Given the description of an element on the screen output the (x, y) to click on. 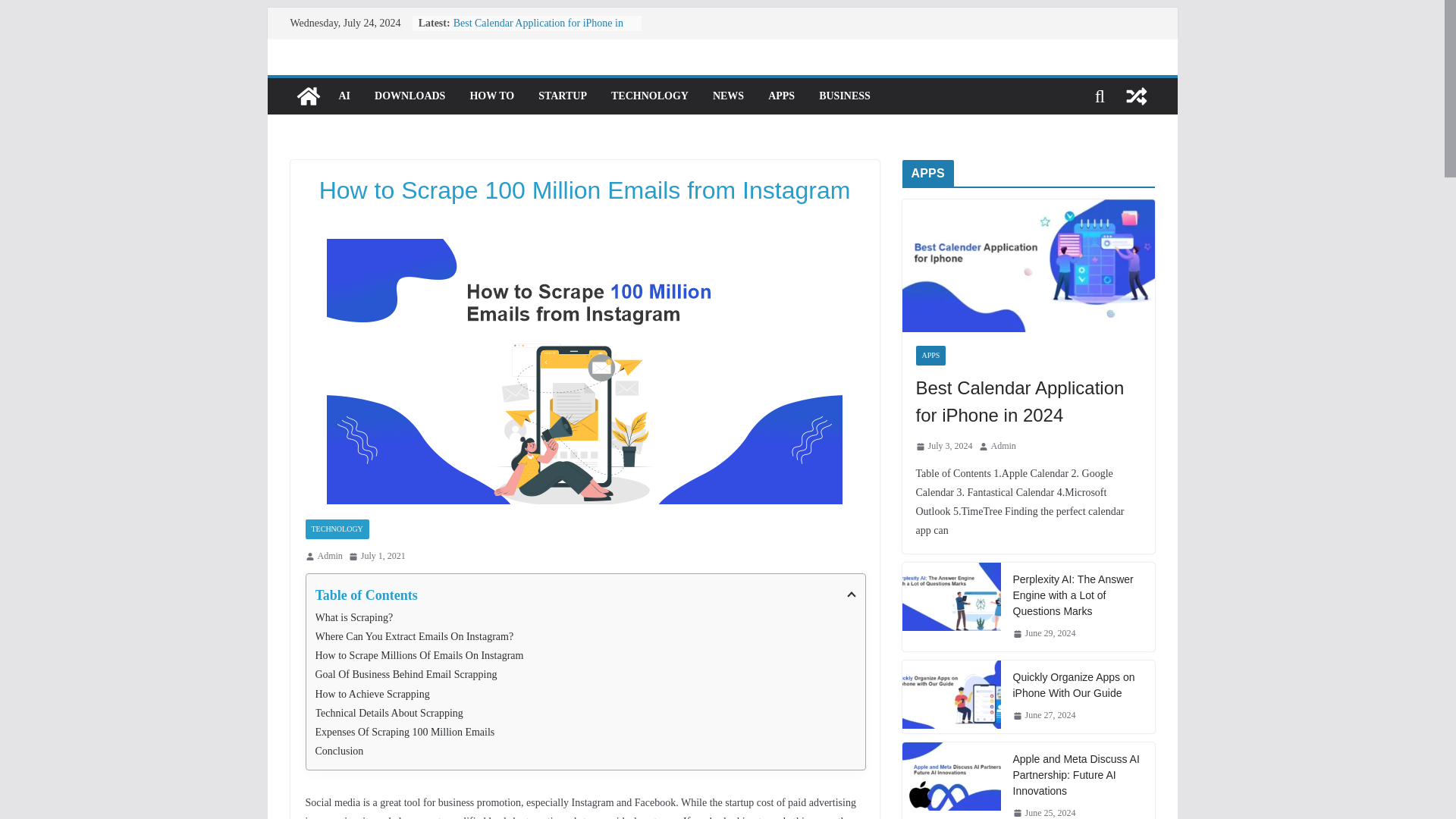
Expenses Of Scraping 100 Million Emails (585, 732)
How to Achieve Scrapping (585, 693)
APPS (781, 96)
What is Scraping? (585, 617)
TECHNOLOGY (336, 528)
Admin (329, 556)
Conclusion (585, 751)
TECHNOLOGY (649, 96)
STARTUP (562, 96)
NEWS (728, 96)
Technical Details About Scrapping (585, 712)
Best Calendar Application for iPhone in 2024 (537, 30)
HOW TO (490, 96)
July 1, 2021 (377, 556)
